Given the description of an element on the screen output the (x, y) to click on. 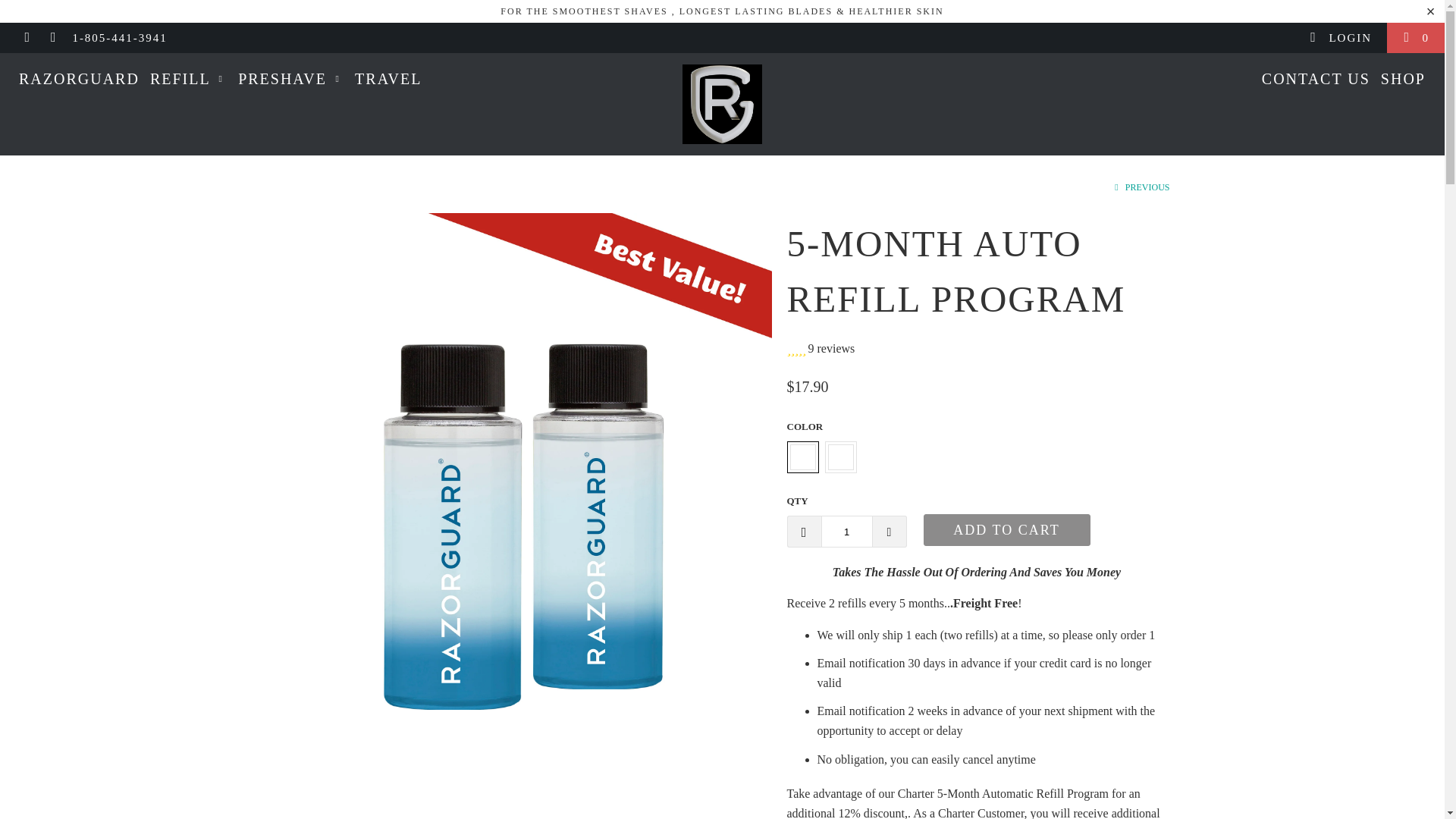
Previous (1140, 186)
RazorGuard on YouTube (26, 37)
My Account  (1339, 37)
RazorGuard (722, 104)
RazorGuard on Instagram (53, 37)
1 (846, 531)
